Given the description of an element on the screen output the (x, y) to click on. 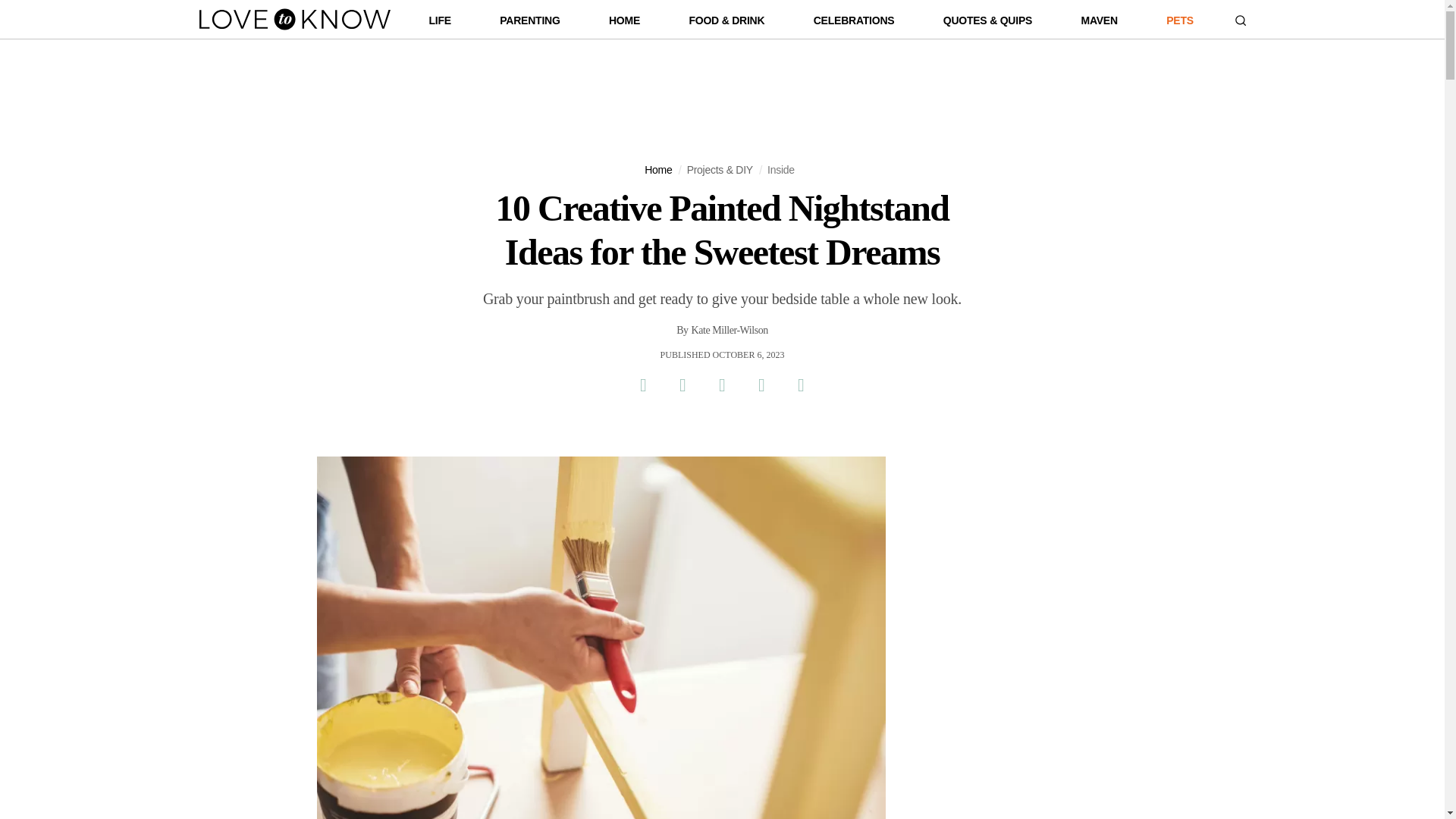
Copy Link (800, 384)
Kate Miller-Wilson (729, 330)
Share on Facebook (642, 384)
LIFE (439, 23)
Share on Twitter (681, 384)
Share via Email (760, 384)
HOME (624, 23)
Share on Pinterest (721, 384)
PARENTING (529, 23)
